Given the description of an element on the screen output the (x, y) to click on. 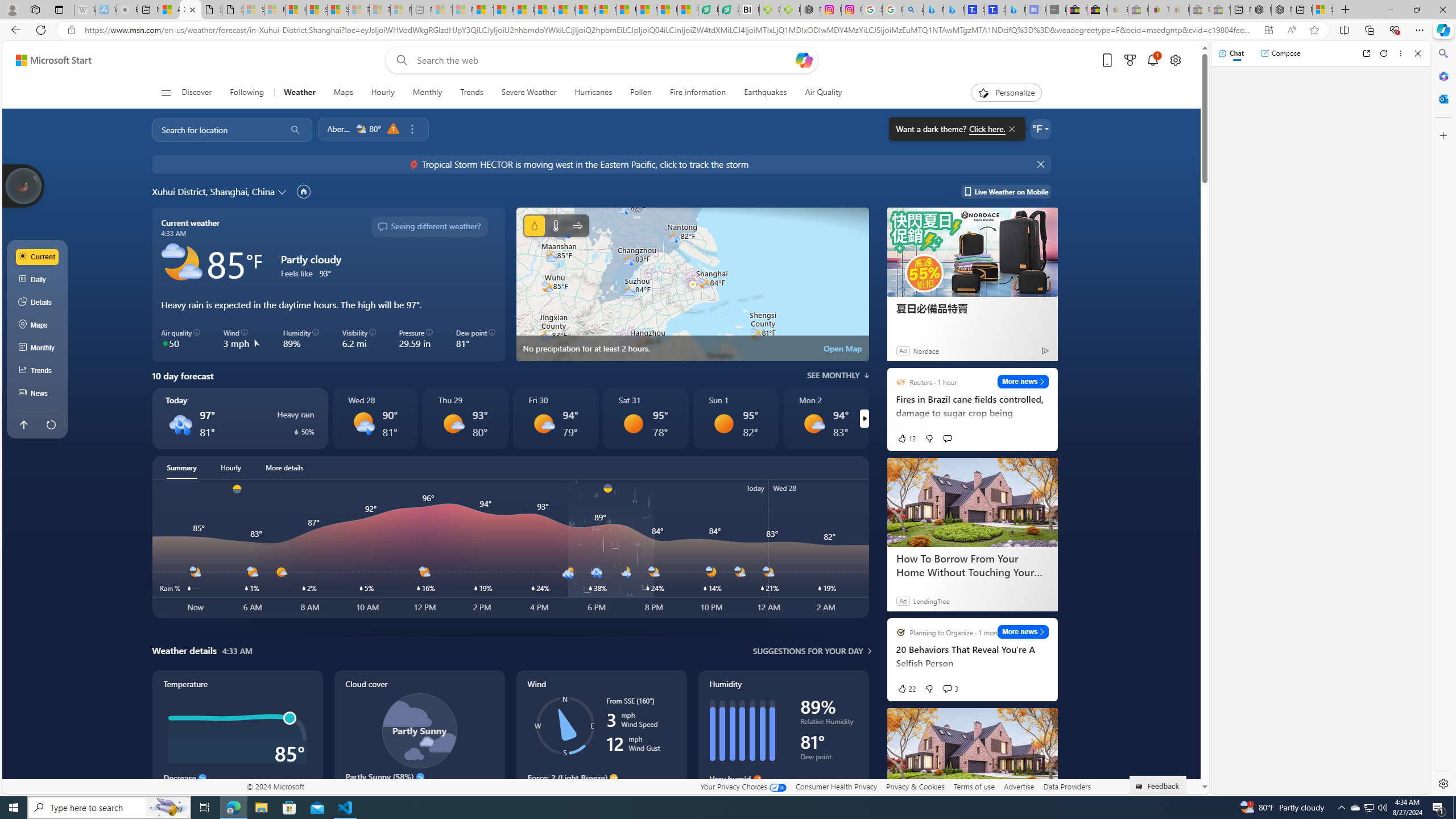
Skip to content (49, 59)
Payments Terms of Use | eBay.com - Sleeping (1178, 9)
Shangri-La Bangkok, Hotel reviews and Room rates (994, 9)
Cloud cover (419, 741)
Humidity (783, 741)
Advertise (1019, 785)
Seeing different weather? (429, 227)
Change location (283, 191)
Fire information (697, 92)
